Given the description of an element on the screen output the (x, y) to click on. 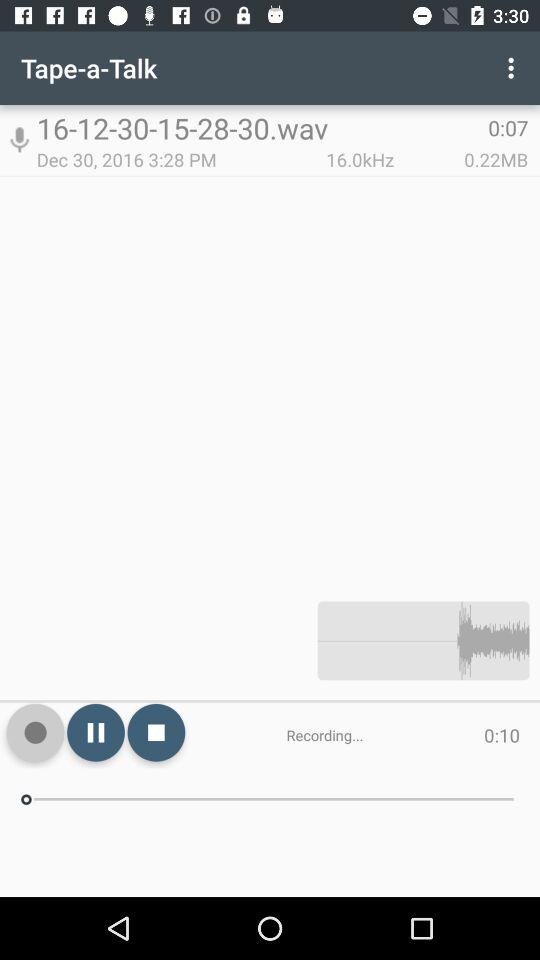
press the app to the left of the 16 12 30 (19, 140)
